Given the description of an element on the screen output the (x, y) to click on. 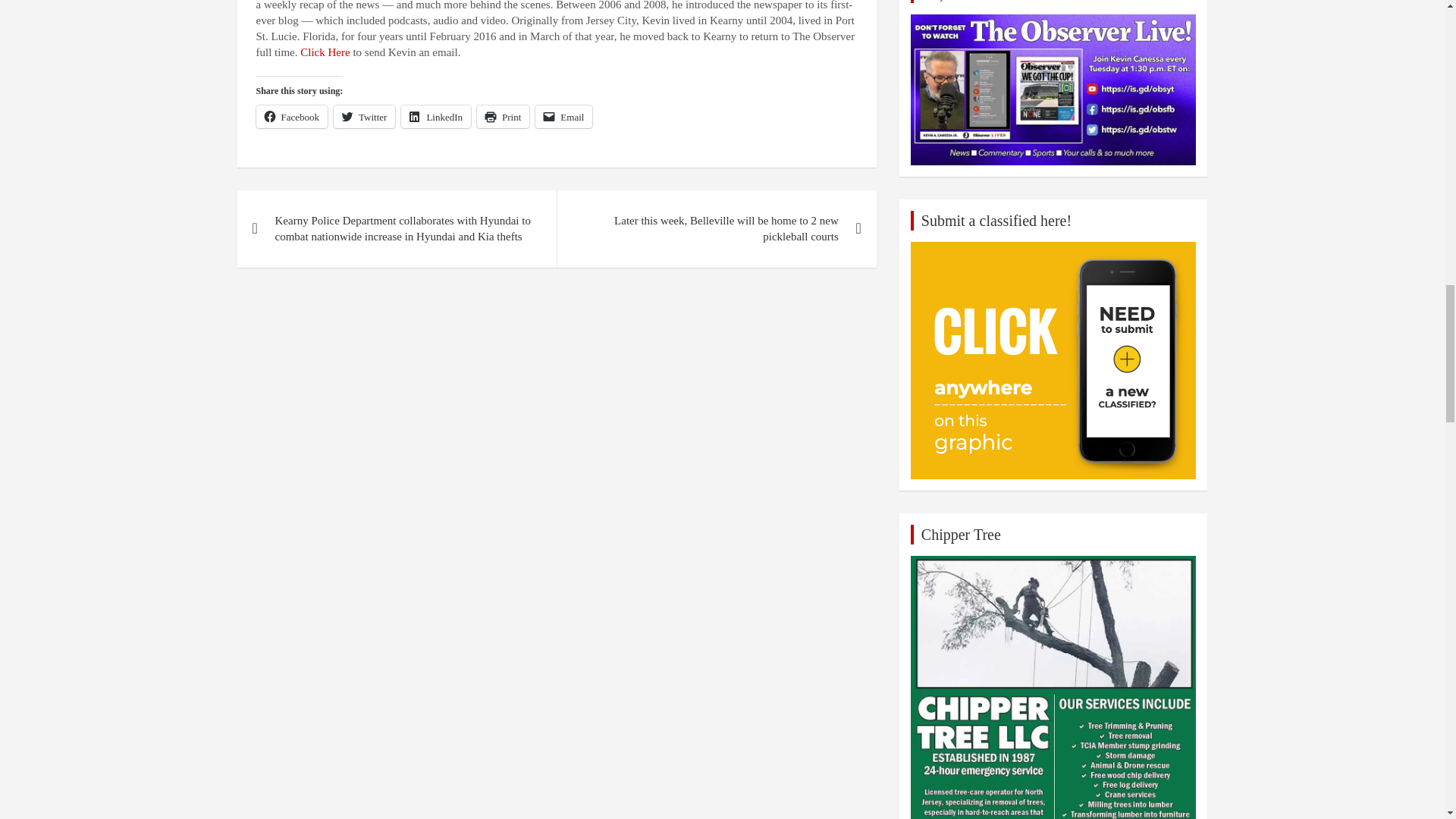
Click to share on Twitter (363, 116)
Click to print (503, 116)
Click to share on LinkedIn (435, 116)
The Observer Live! (1053, 90)
Click to share on Facebook (292, 116)
Click to email a link to a friend (563, 116)
